Given the description of an element on the screen output the (x, y) to click on. 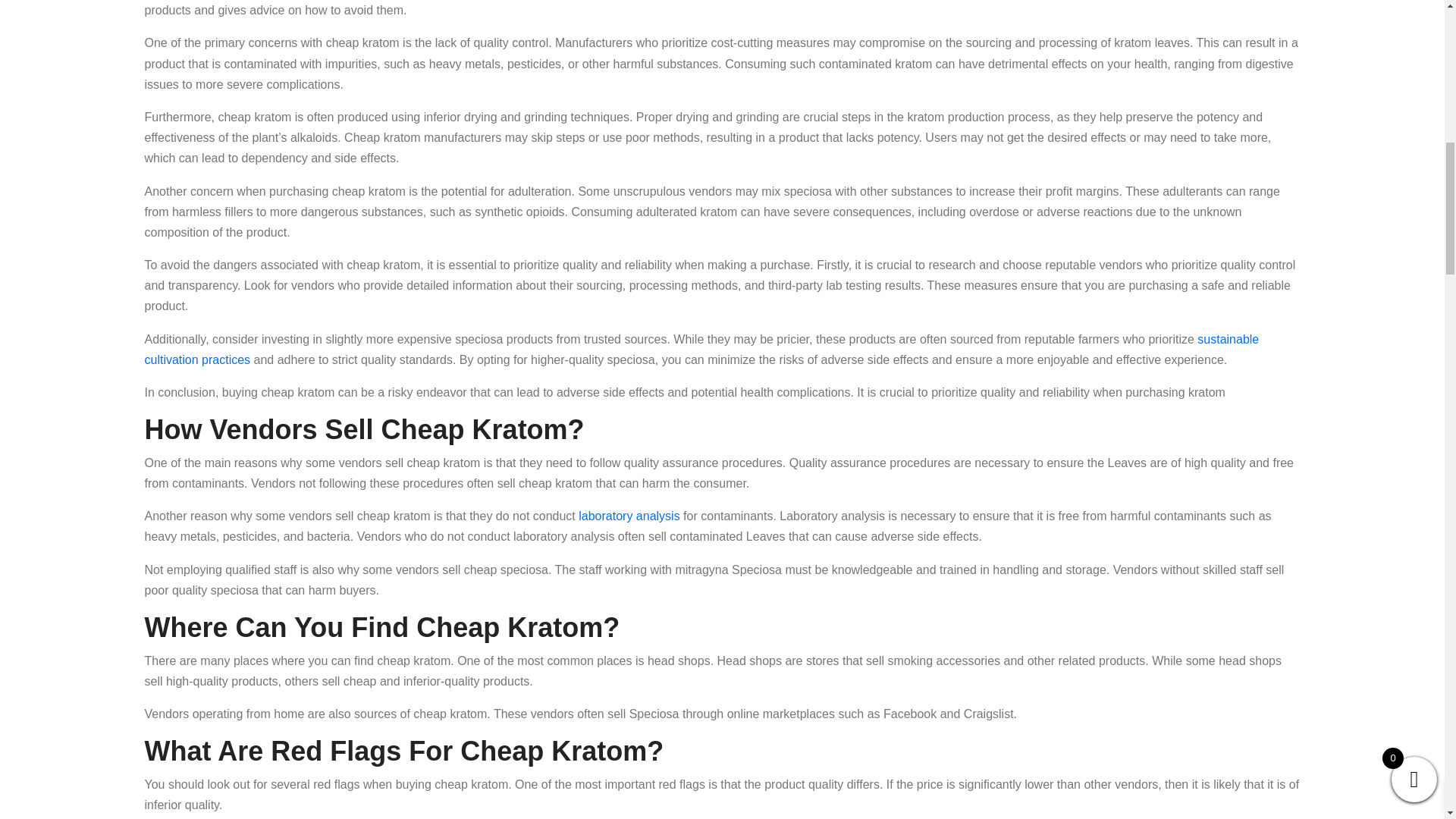
sustainable cultivation practices (701, 349)
laboratory analysis (628, 515)
